Given the description of an element on the screen output the (x, y) to click on. 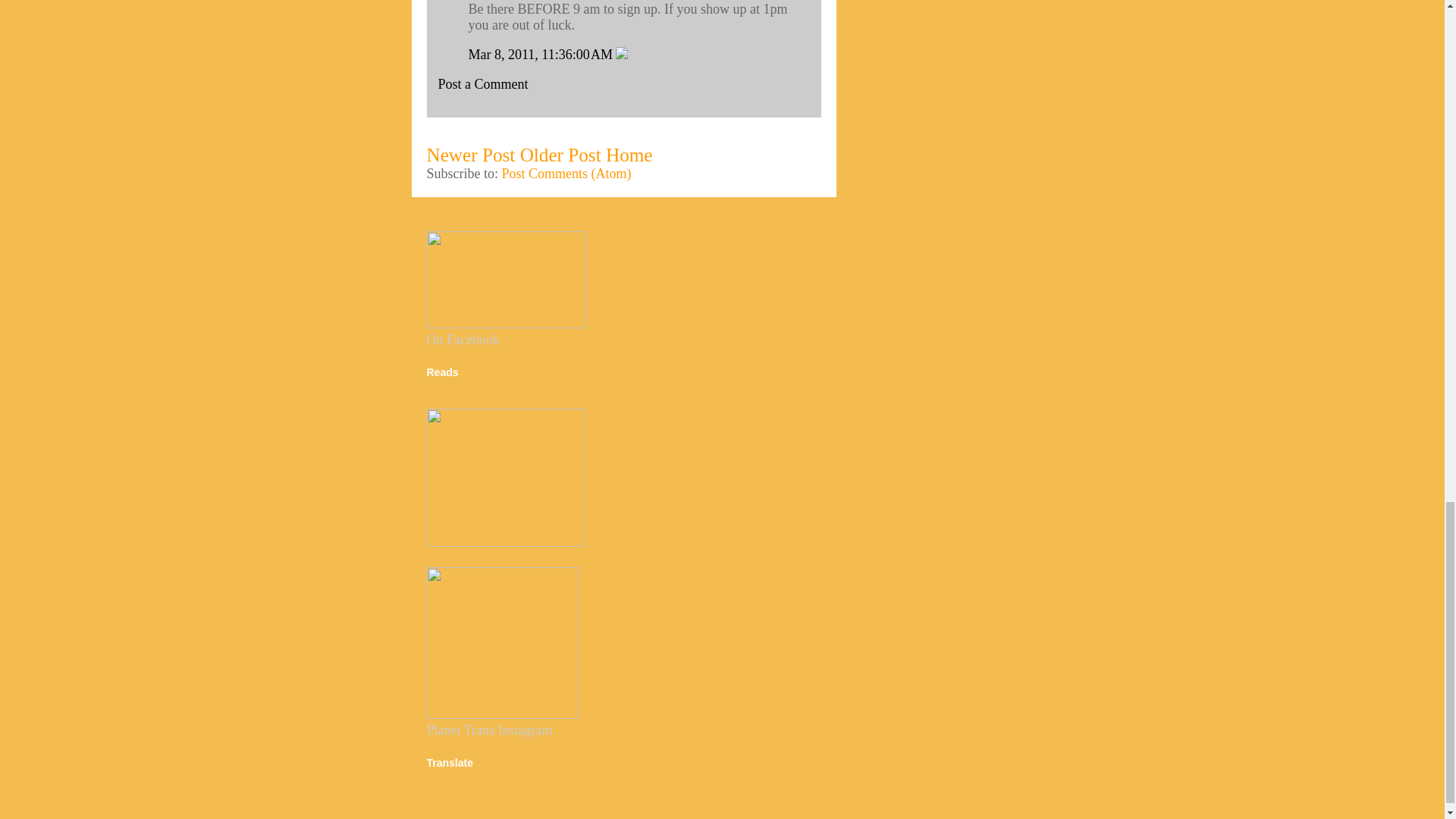
Newer Post (470, 154)
Post a Comment (483, 83)
Older Post (560, 154)
comment permalink (541, 54)
Newer Post (470, 154)
Home (628, 154)
Older Post (560, 154)
